Given the description of an element on the screen output the (x, y) to click on. 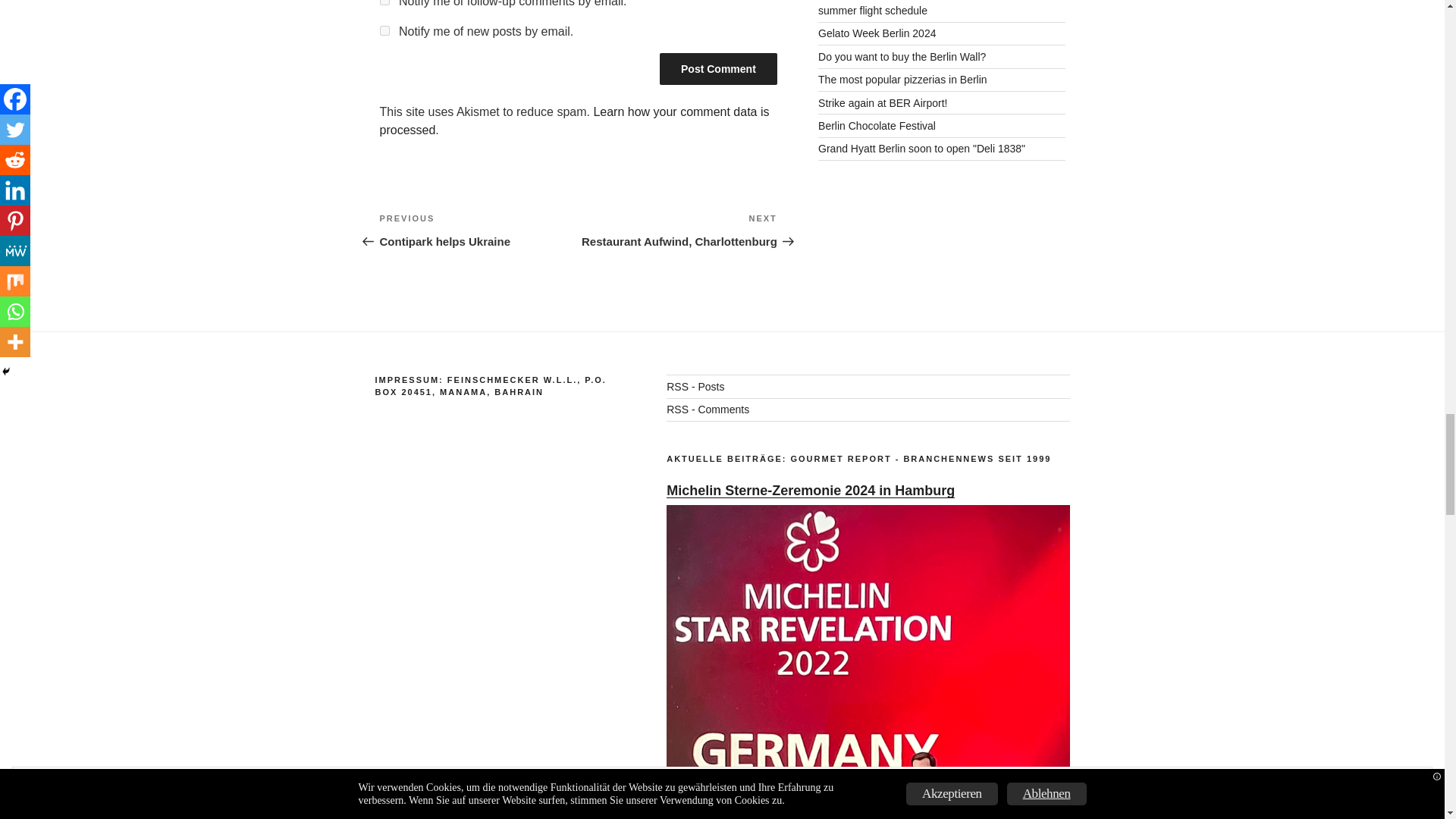
subscribe (383, 2)
Post Comment (718, 69)
subscribe (383, 30)
Post Comment (718, 69)
